Given the description of an element on the screen output the (x, y) to click on. 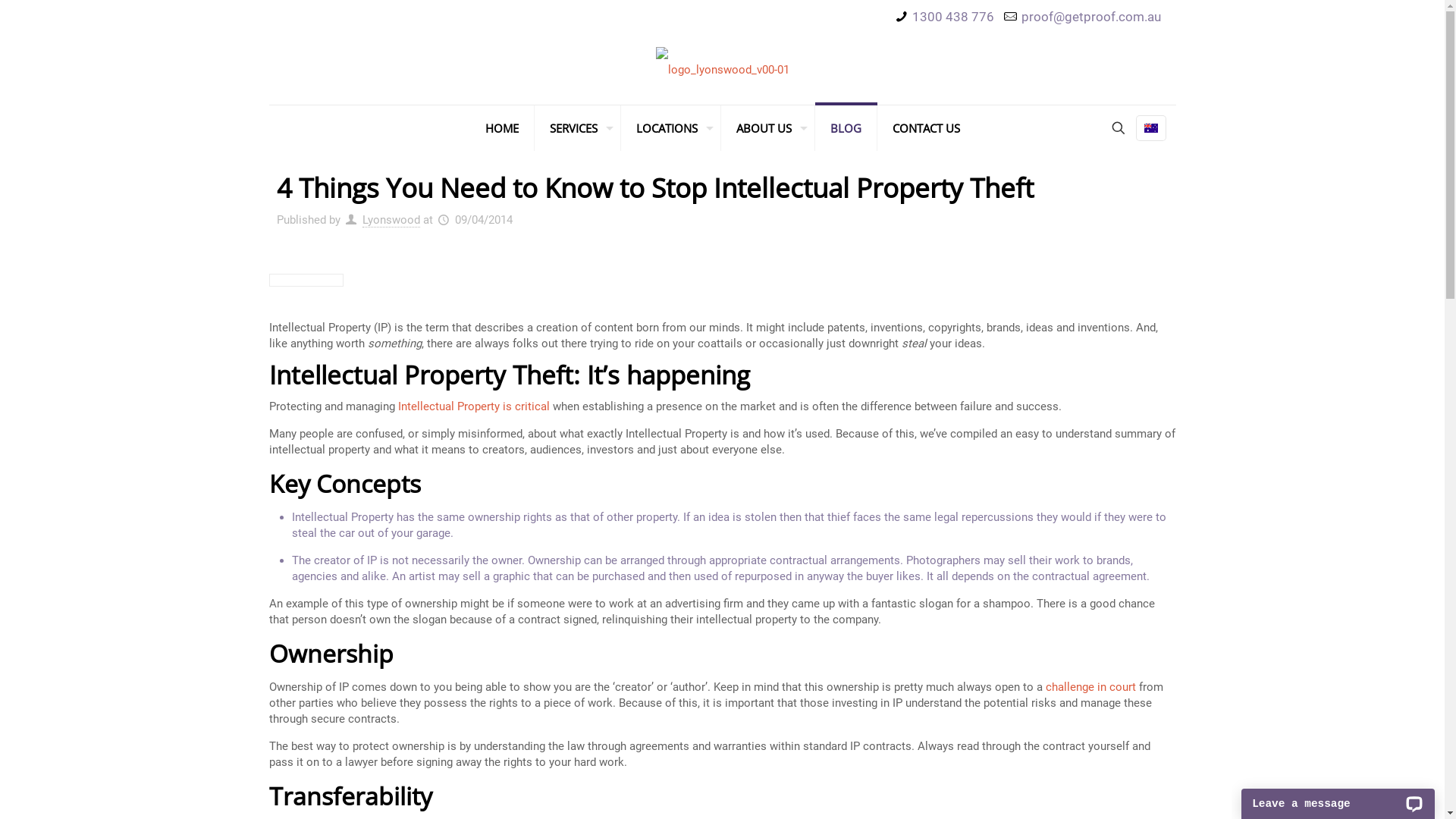
proof@getproof.com.au Element type: text (1090, 16)
Lyonswood Element type: text (391, 220)
HOME Element type: text (502, 127)
Lyonswood Element type: hover (721, 69)
LOCATIONS Element type: text (670, 127)
challenge in court Element type: text (1090, 686)
ABOUT US Element type: text (767, 127)
Intellectual Property is critical Element type: text (473, 406)
BLOG Element type: text (845, 127)
CONTACT US Element type: text (925, 127)
1300 438 776 Element type: text (953, 16)
SERVICES Element type: text (576, 127)
